Given the description of an element on the screen output the (x, y) to click on. 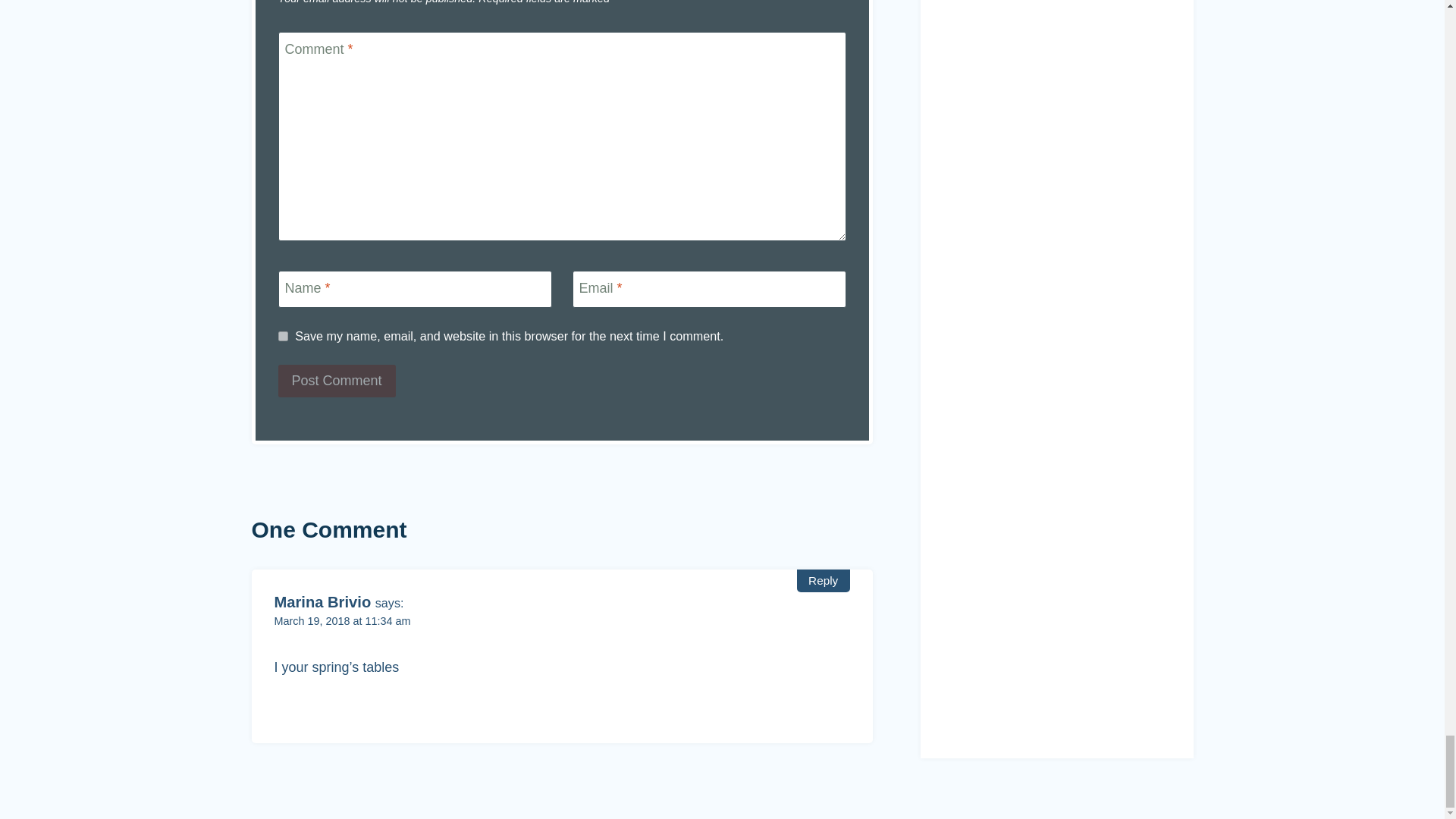
yes (282, 336)
Post Comment (336, 380)
